Given the description of an element on the screen output the (x, y) to click on. 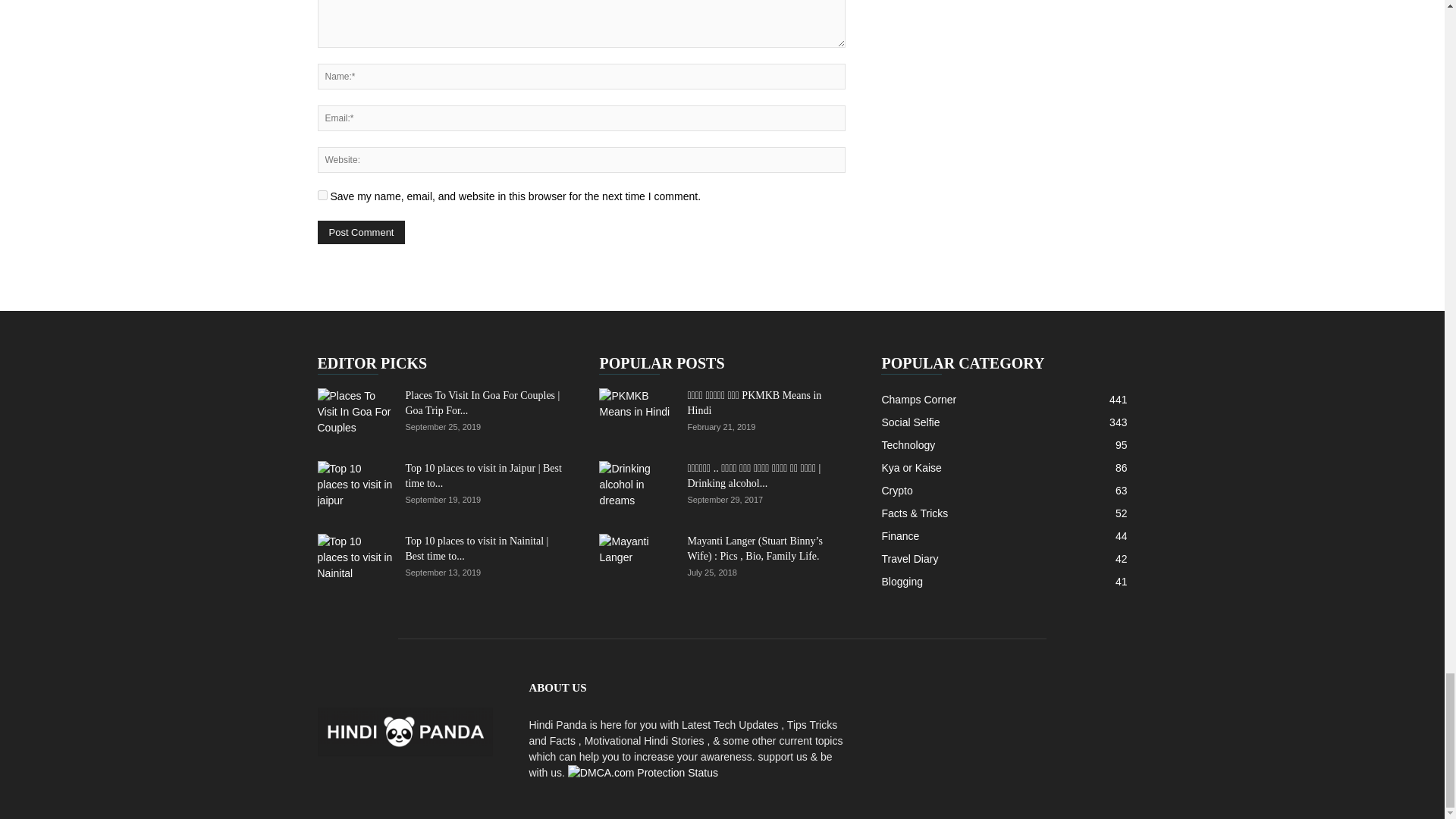
yes (321, 194)
Post Comment (360, 232)
